Given the description of an element on the screen output the (x, y) to click on. 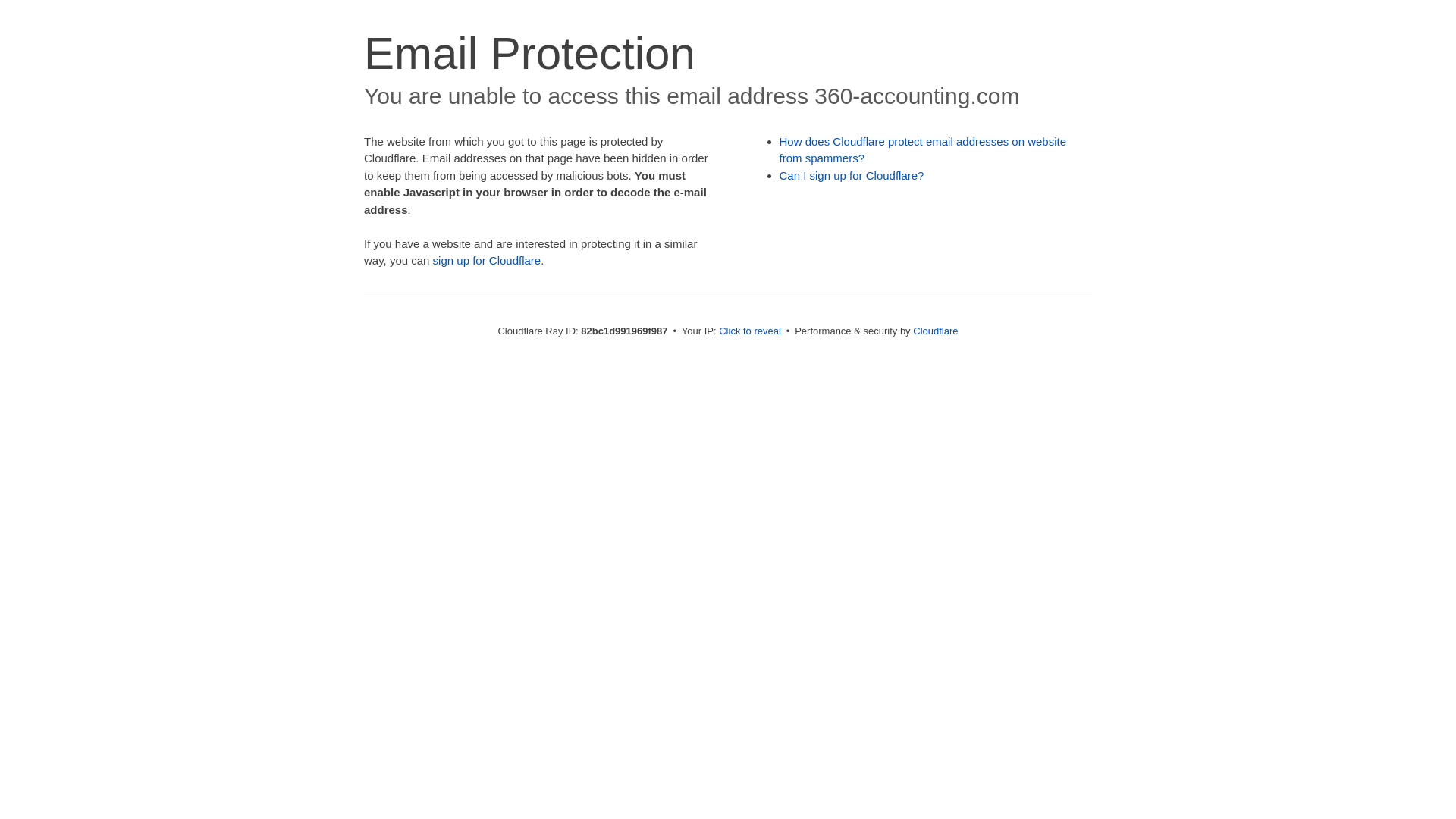
Cloudflare Element type: text (935, 330)
Click to reveal Element type: text (749, 330)
sign up for Cloudflare Element type: text (487, 260)
Can I sign up for Cloudflare? Element type: text (851, 175)
